Given the description of an element on the screen output the (x, y) to click on. 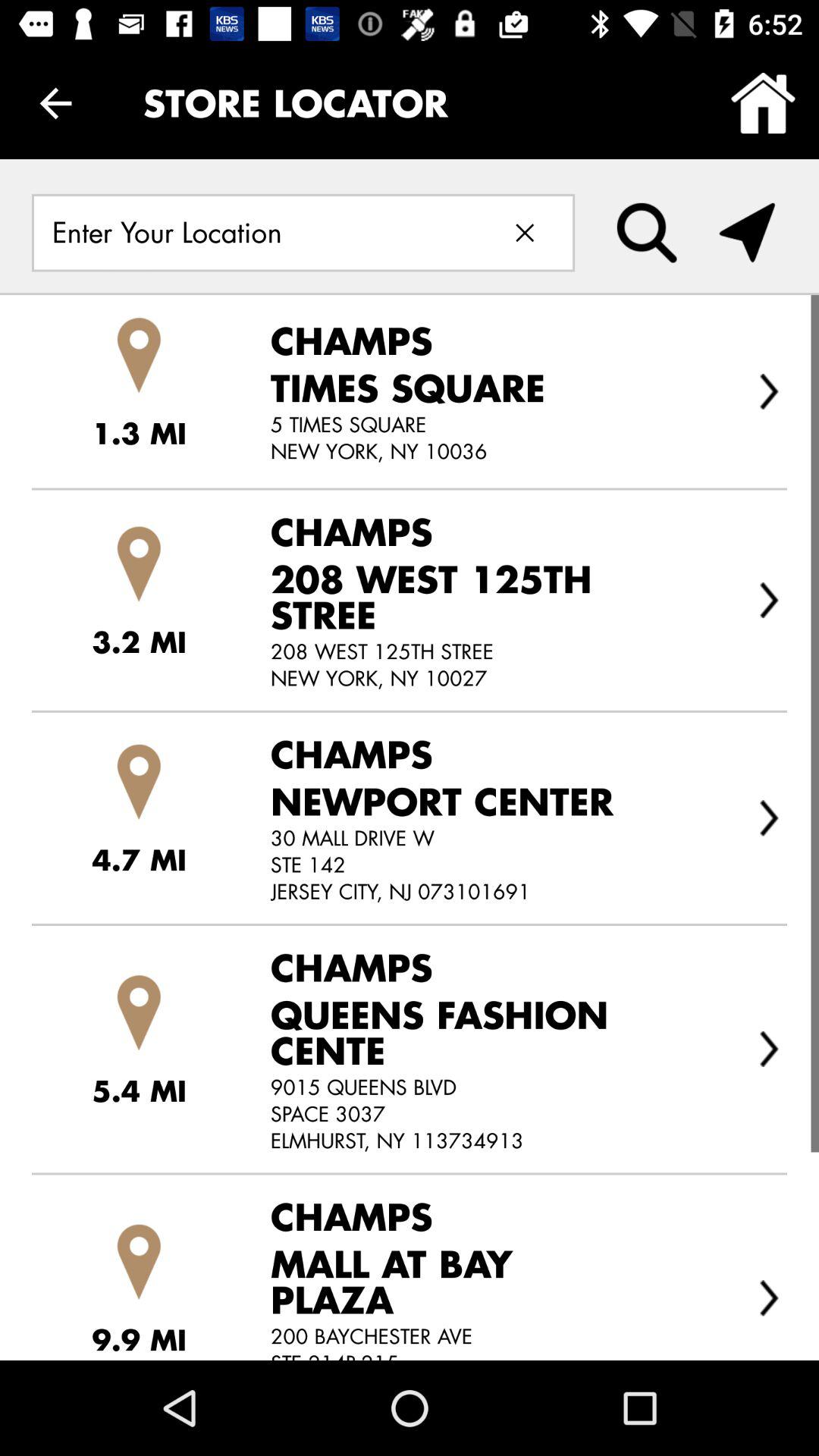
delete text (524, 232)
